Given the description of an element on the screen output the (x, y) to click on. 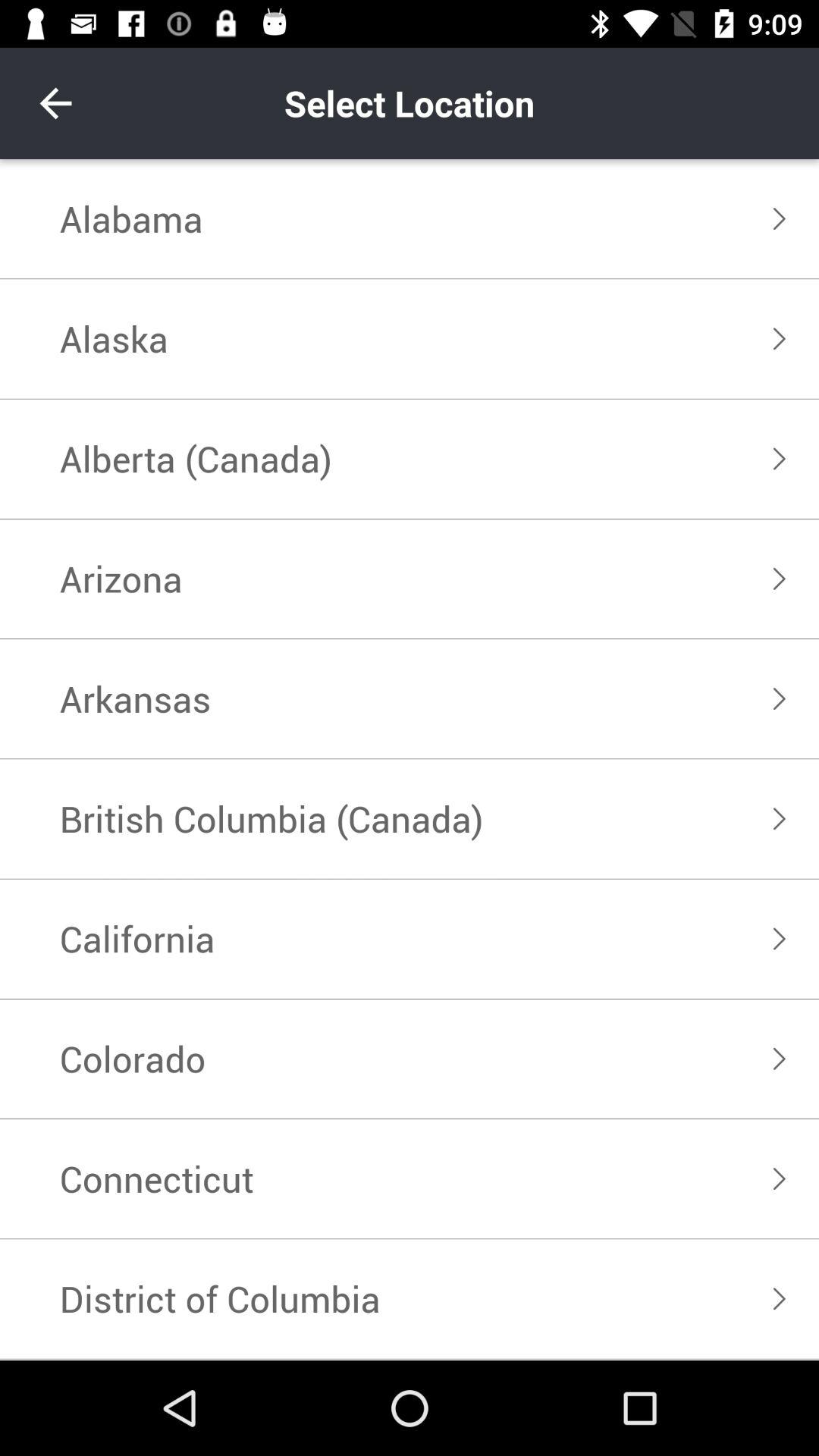
launch item above the alabama item (55, 103)
